Given the description of an element on the screen output the (x, y) to click on. 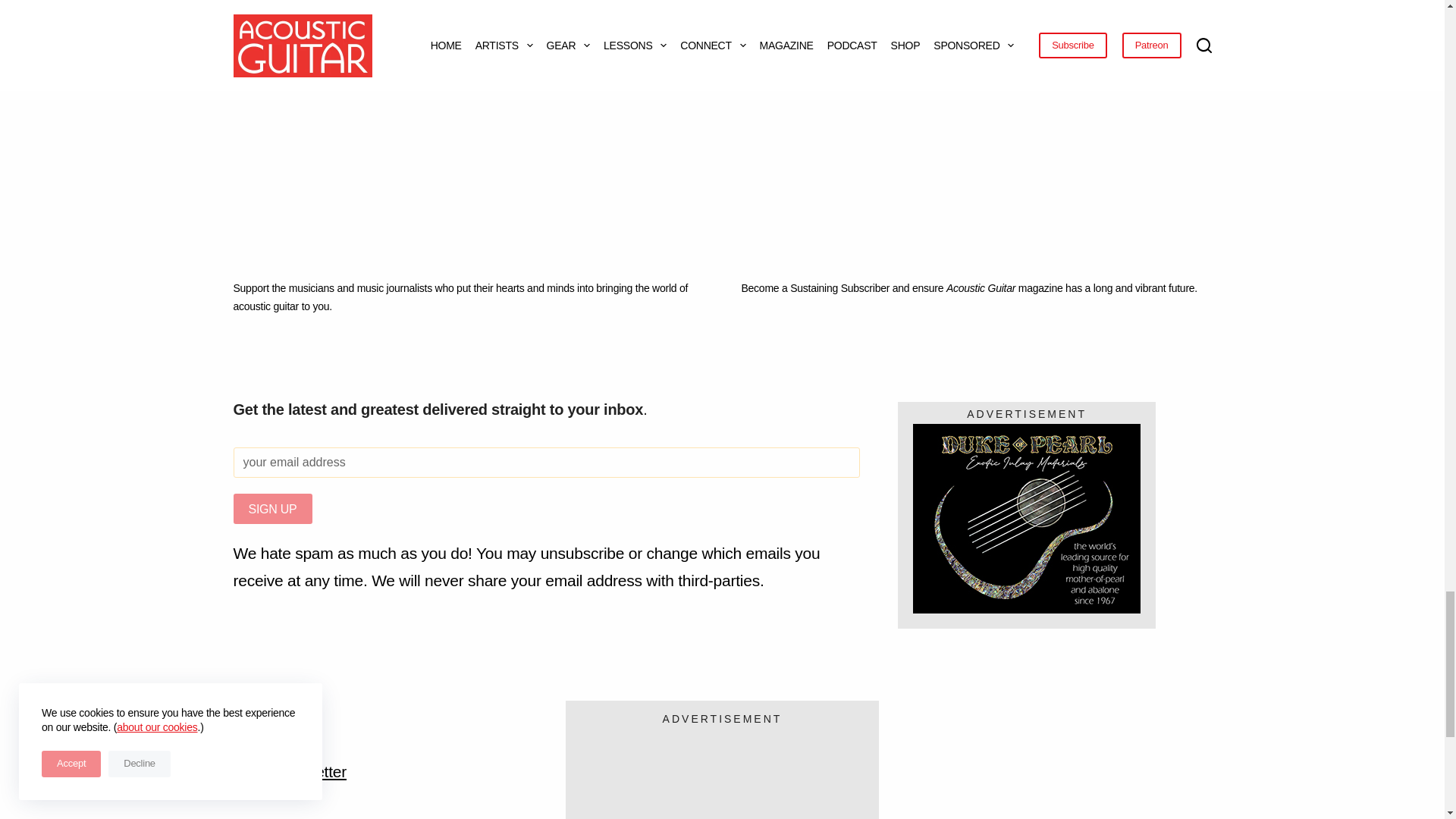
Advertisement: Duke of Pearl (1026, 518)
Posts by Kate Koenig (595, 39)
Posts by Kate Koenig (260, 39)
Posts by Kate Koenig (928, 57)
your email address (546, 462)
